Given the description of an element on the screen output the (x, y) to click on. 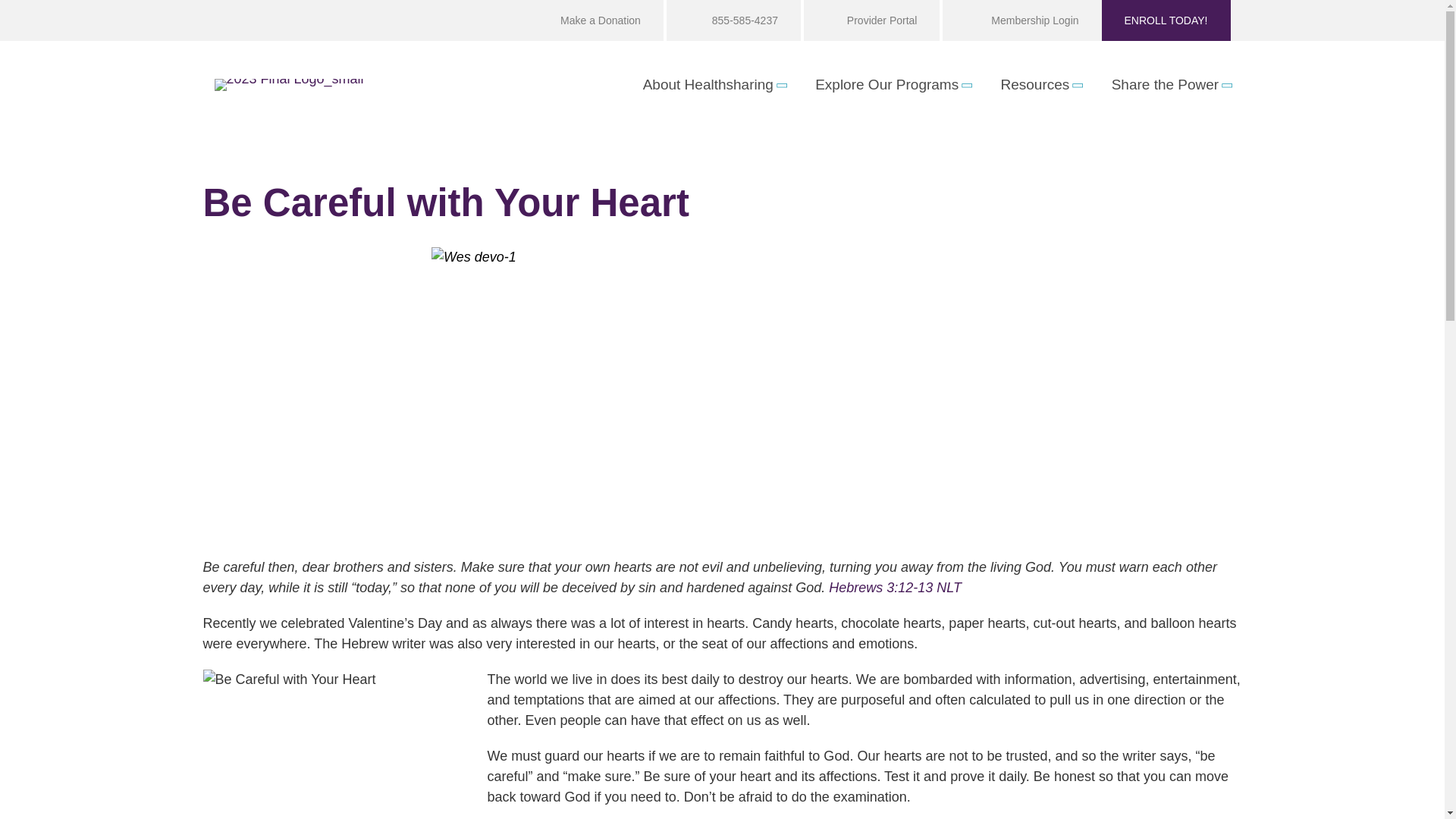
855-585-4237 (731, 20)
Provider Portal (869, 20)
Explore Our Programs (892, 84)
Share the Power (1171, 84)
Membership Login (1019, 20)
Make a Donation (589, 20)
Hebrews 3:12-13 NLT (894, 587)
ENROLL TODAY! (1166, 20)
About Healthsharing (713, 84)
Resources (1041, 84)
